Given the description of an element on the screen output the (x, y) to click on. 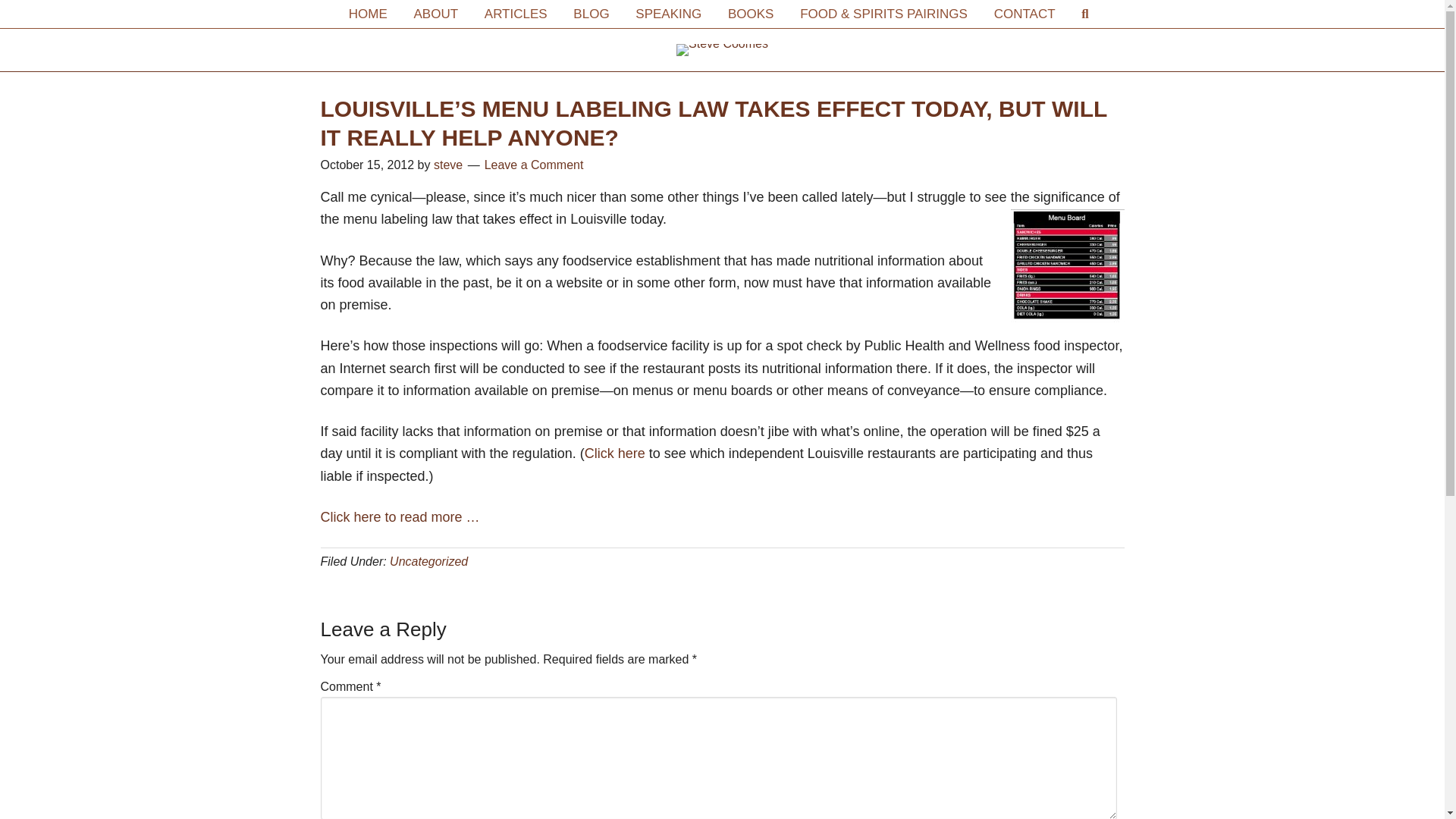
Menu labeling (1067, 265)
Inside Pages (722, 50)
BOOKS (750, 13)
Leave a Comment (533, 164)
Uncategorized (428, 561)
BLOG (591, 13)
CONTACT (1024, 13)
Click here (615, 453)
HOME (367, 13)
